Given the description of an element on the screen output the (x, y) to click on. 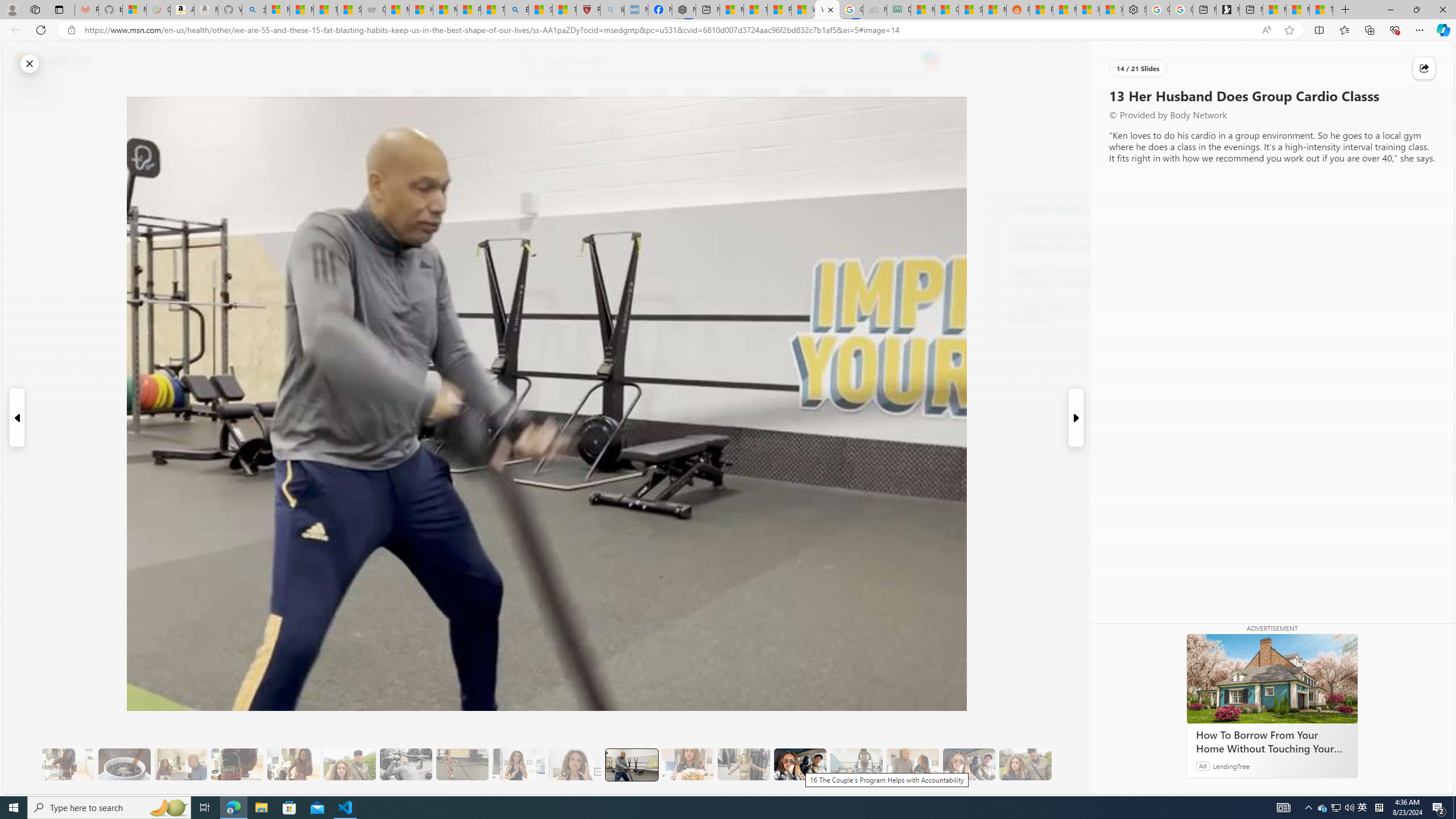
Address and search bar (669, 29)
6 Since Eating More Protein Her Training Has Improved (237, 764)
Web search (526, 60)
These 3 Stocks Pay You More Than 5% to Own Them (1321, 9)
Robert H. Shmerling, MD - Harvard Health (588, 9)
8 Be Mindful of Coffee (124, 764)
Technology (609, 92)
7 They Don't Skip Meals (293, 764)
R******* | Trusted Community Engagement and Contributions (1041, 9)
14 They Have Salmon and Veggies for Dinner (687, 764)
